Given the description of an element on the screen output the (x, y) to click on. 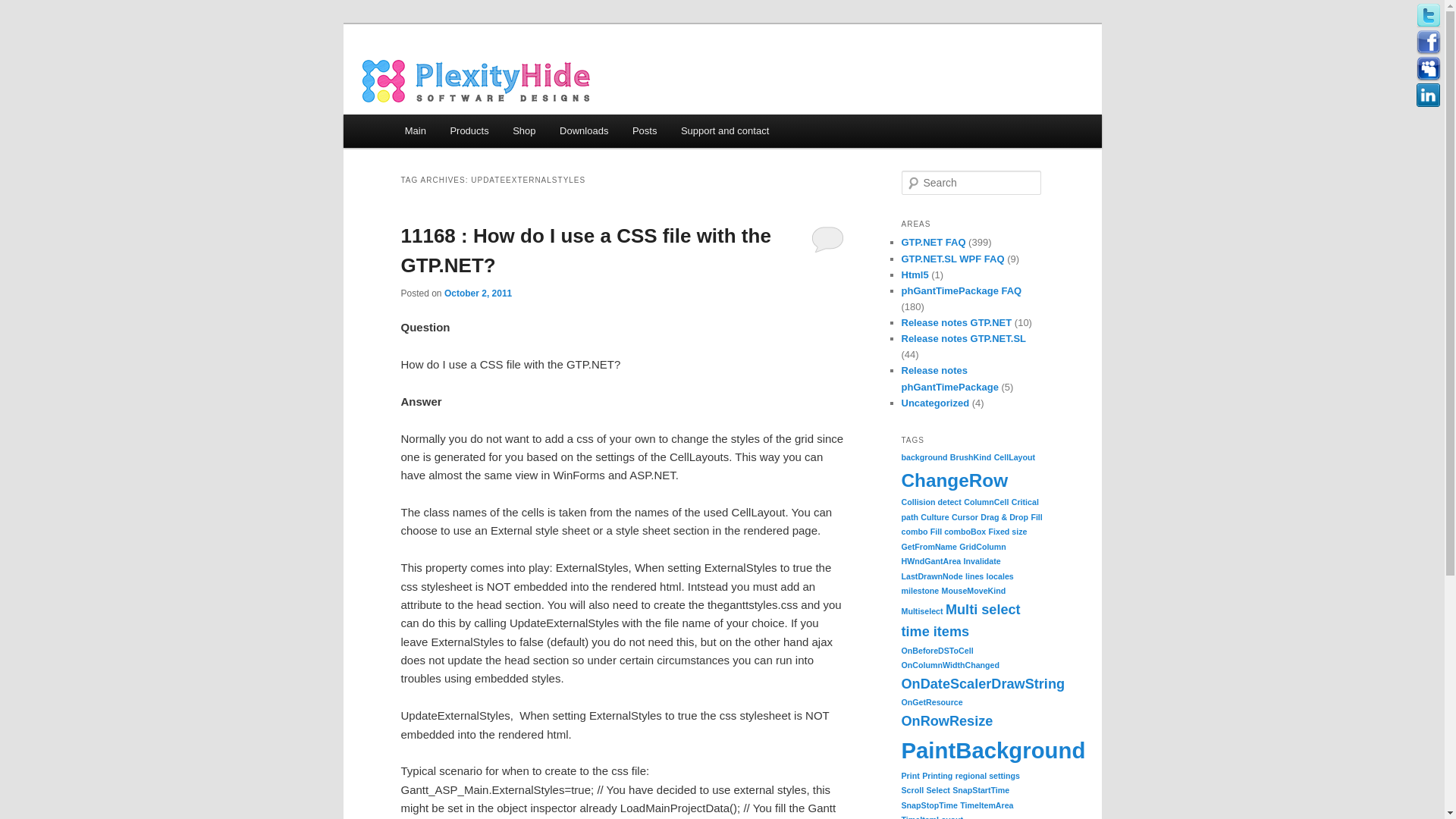
Tweeter button (1428, 15)
02:06 (478, 293)
BrushKind (970, 456)
Posts (644, 130)
Share it on Facebook (1428, 42)
Search (21, 11)
Uncategorized (935, 402)
Release notes phGantTimePackage (949, 378)
phGantTimePackage FAQ (961, 290)
Downloads (583, 130)
Share it on Linkedin (1428, 95)
Main (415, 130)
Linkedin button (1428, 95)
Skip to secondary content (479, 133)
Share it on Myspace (1428, 68)
